Given the description of an element on the screen output the (x, y) to click on. 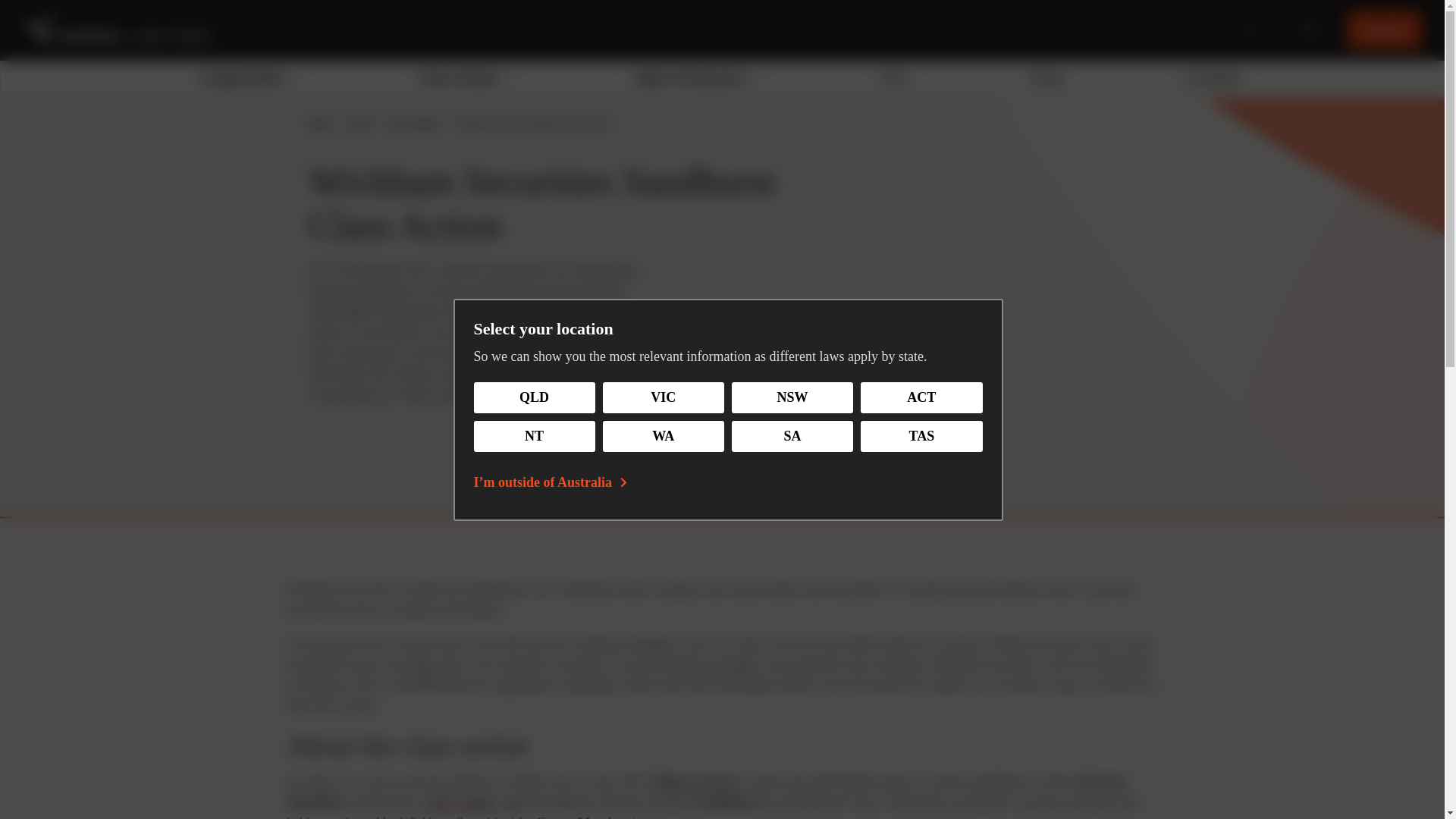
Team (1046, 77)
Locations (1213, 77)
class action team (551, 373)
Fees (895, 77)
Enquire (1384, 30)
Home (319, 123)
class action (461, 802)
